Given the description of an element on the screen output the (x, y) to click on. 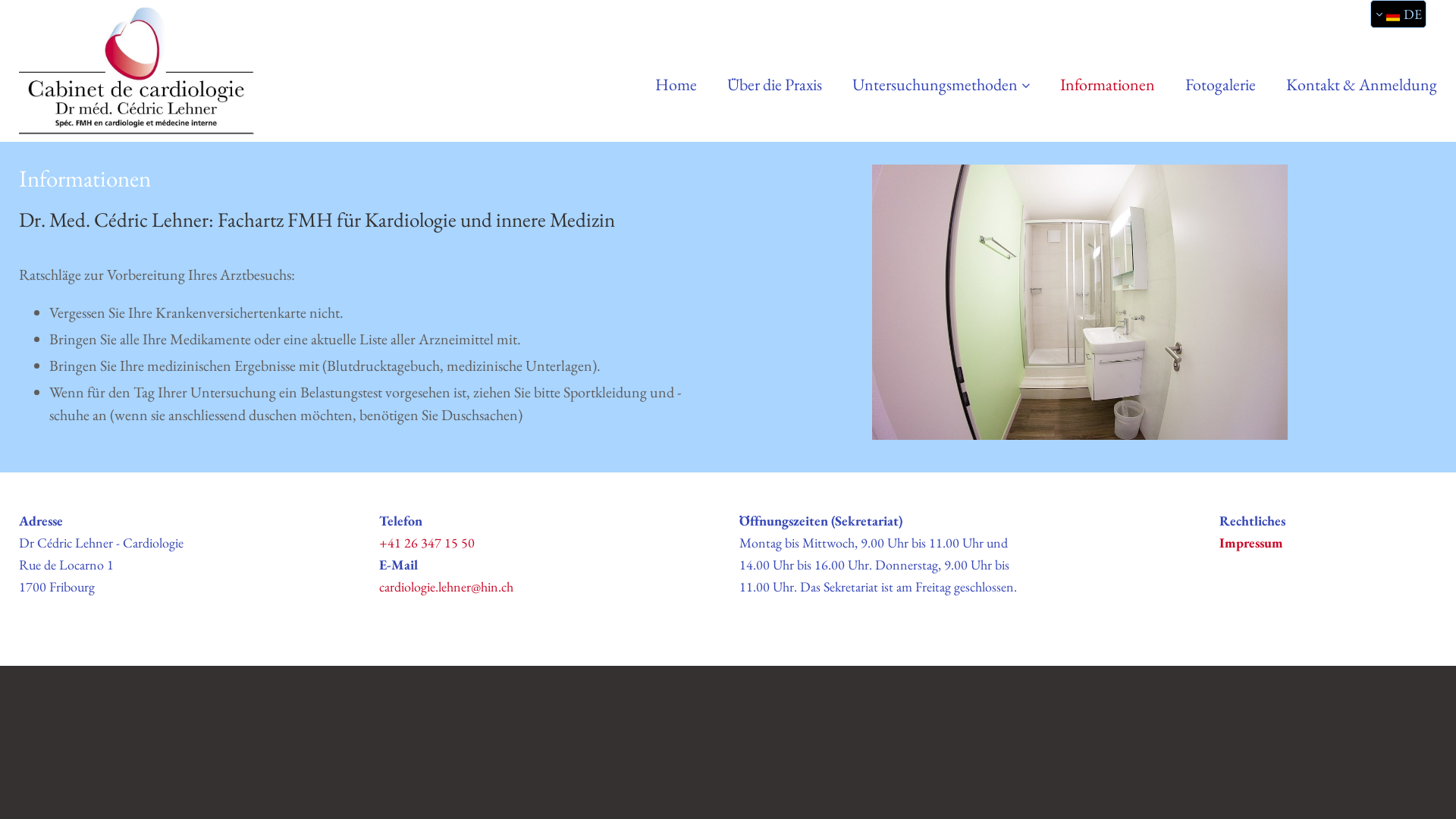
cardiologie.lehner@hin.ch Element type: text (446, 586)
+41 26 347 15 50 Element type: text (426, 542)
Kontakt & Anmeldung Element type: text (1361, 84)
Home Element type: text (675, 84)
Fotogalerie Element type: text (1220, 84)
Informationen Element type: text (1107, 84)
DE Element type: text (1398, 13)
Impressum Element type: text (1251, 542)
Untersuchungsmethoden Element type: text (940, 84)
